Given the description of an element on the screen output the (x, y) to click on. 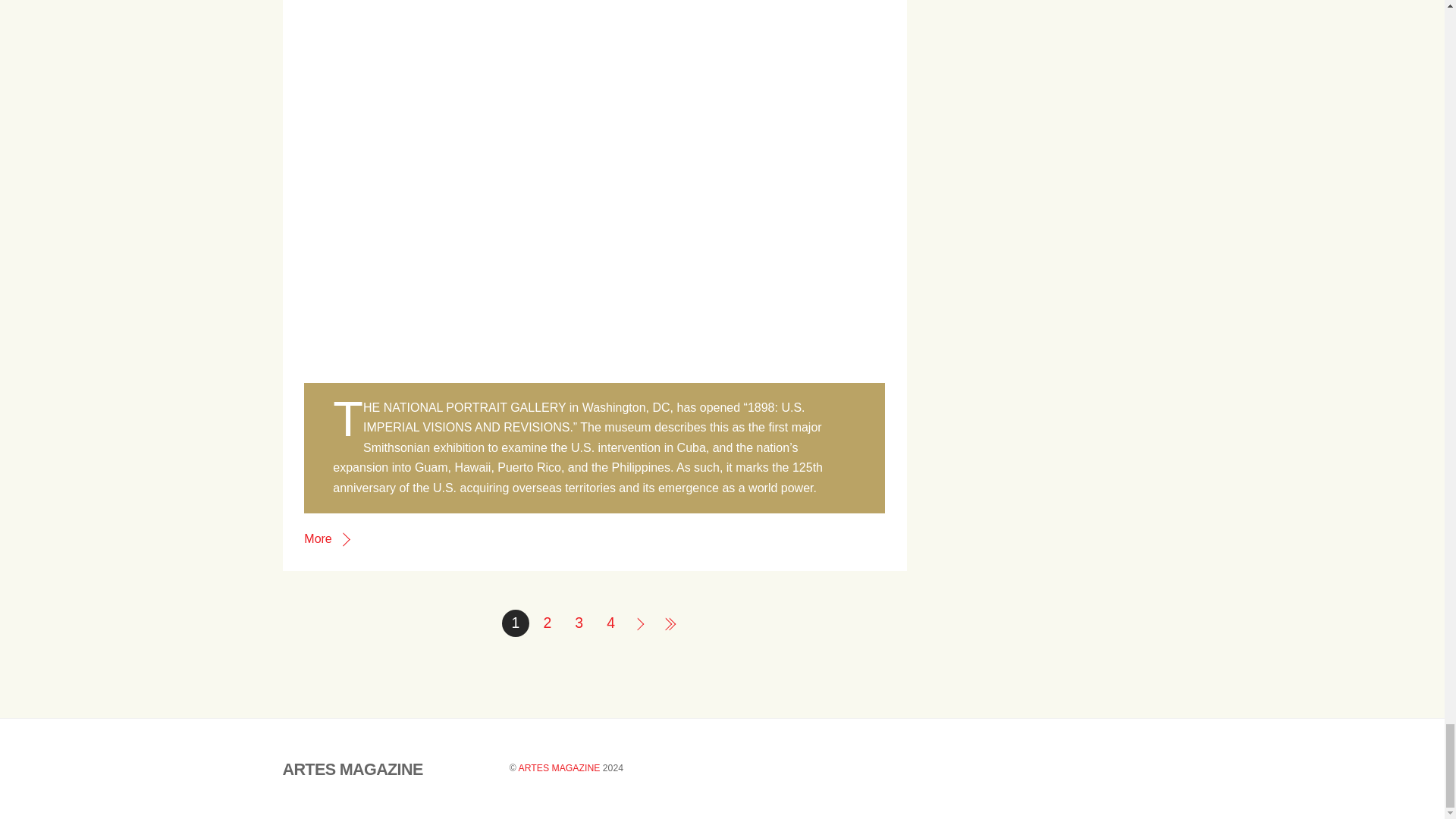
4 (610, 623)
3 (579, 623)
More (325, 538)
ARTES MAGAZINE (352, 769)
2 (547, 623)
